Given the description of an element on the screen output the (x, y) to click on. 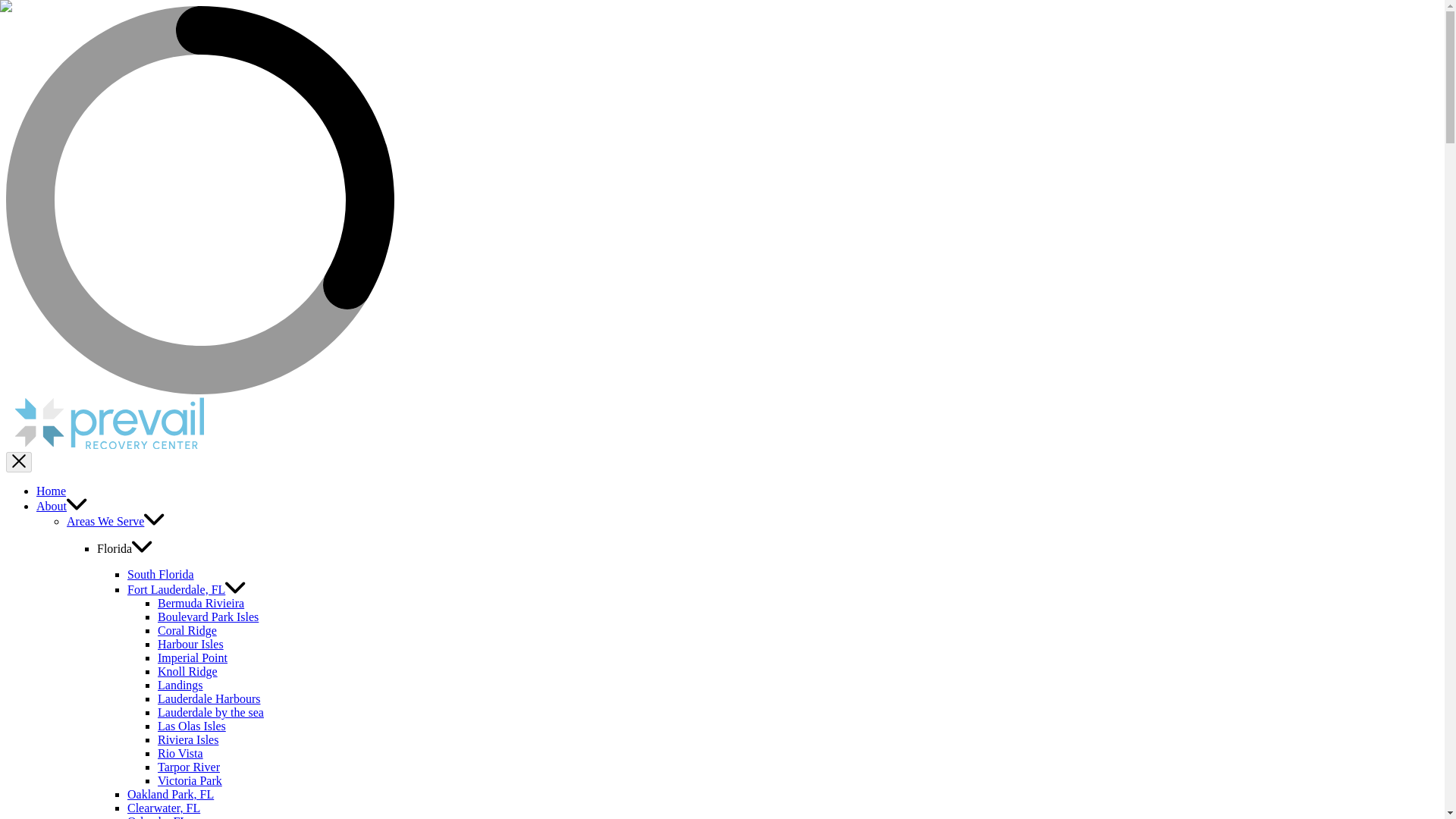
Imperial Point (192, 657)
Clearwater, FL (164, 807)
Bermuda Rivieira (200, 603)
Las Olas Isles (191, 725)
Landings (180, 684)
Fort Lauderdale, FL (187, 589)
Close Menu (18, 462)
Home (50, 490)
Oakland Park, FL (171, 793)
Harbour Isles (190, 644)
Knoll Ridge (186, 671)
South Florida (160, 574)
Lauderdale by the sea (210, 712)
Orlando, FL (157, 816)
Tarpor River (188, 766)
